Given the description of an element on the screen output the (x, y) to click on. 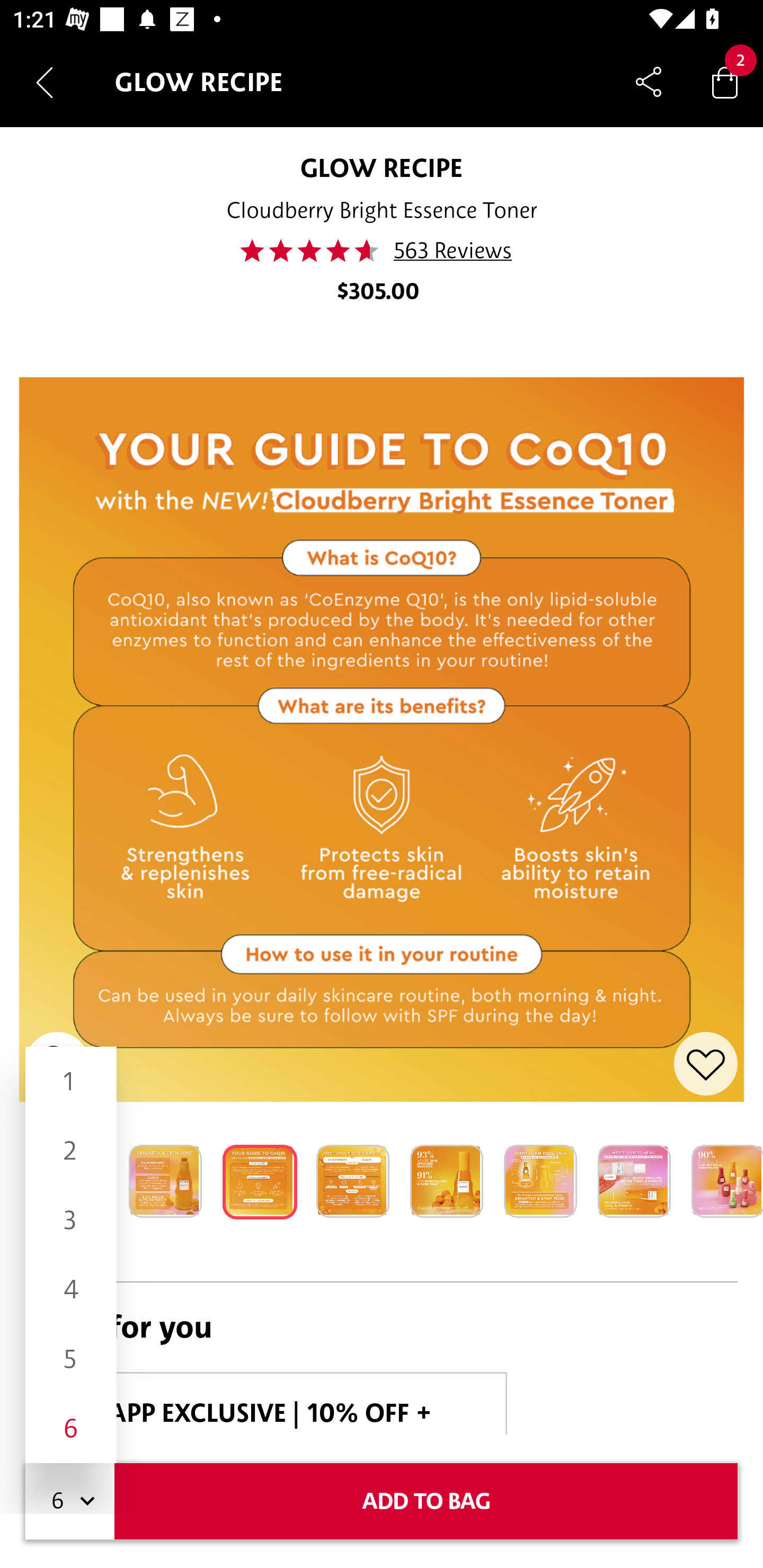
1 (70, 1081)
2 (70, 1150)
3 (70, 1219)
4 (70, 1289)
5 (70, 1358)
6 (70, 1427)
